Given the description of an element on the screen output the (x, y) to click on. 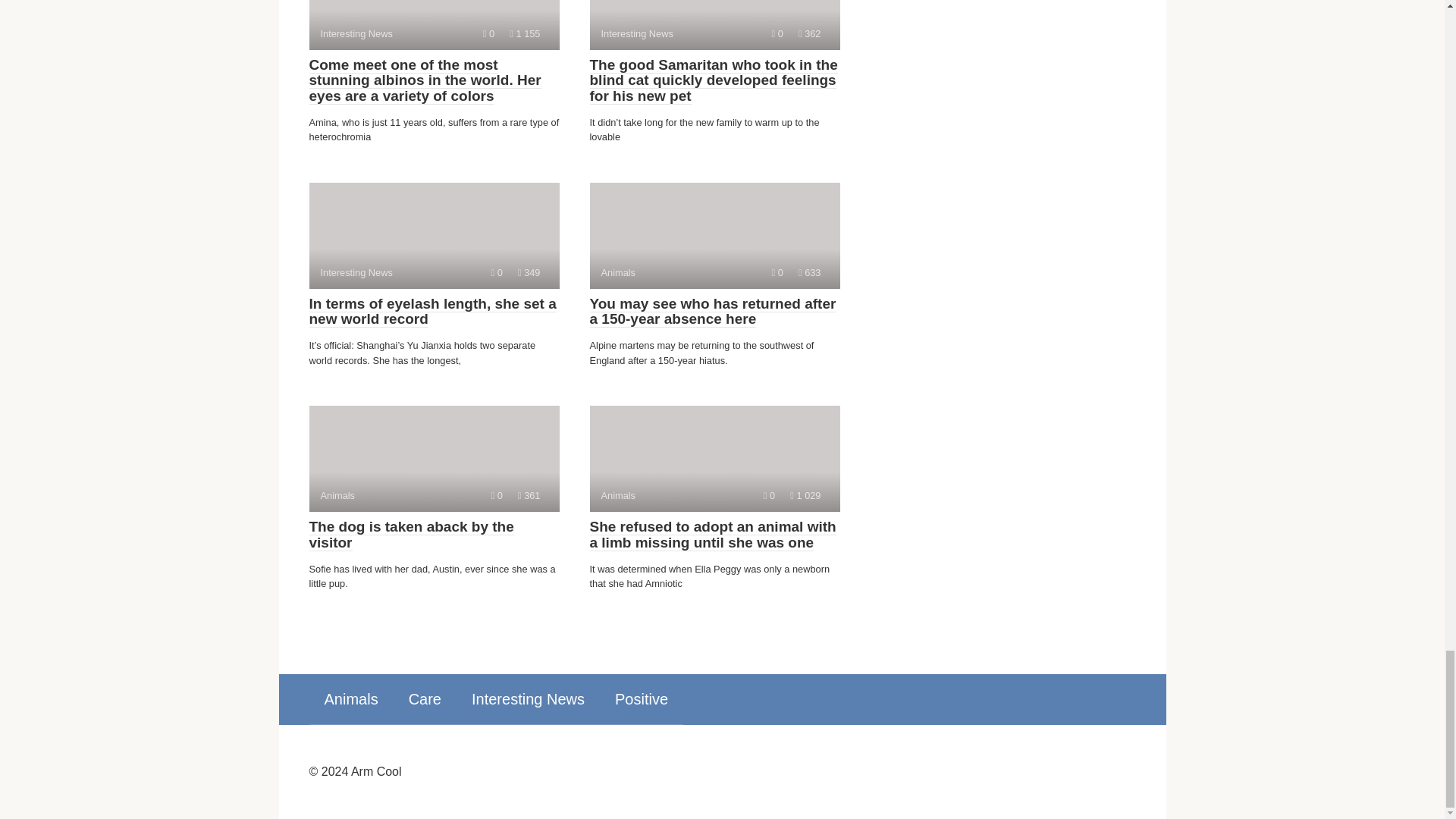
You may see who has returned after a 150-year absence here (714, 235)
Animals (712, 311)
Care (714, 458)
In terms of eyelash length, she set a new world record (714, 24)
The dog is taken aback by the visitor (433, 458)
